Given the description of an element on the screen output the (x, y) to click on. 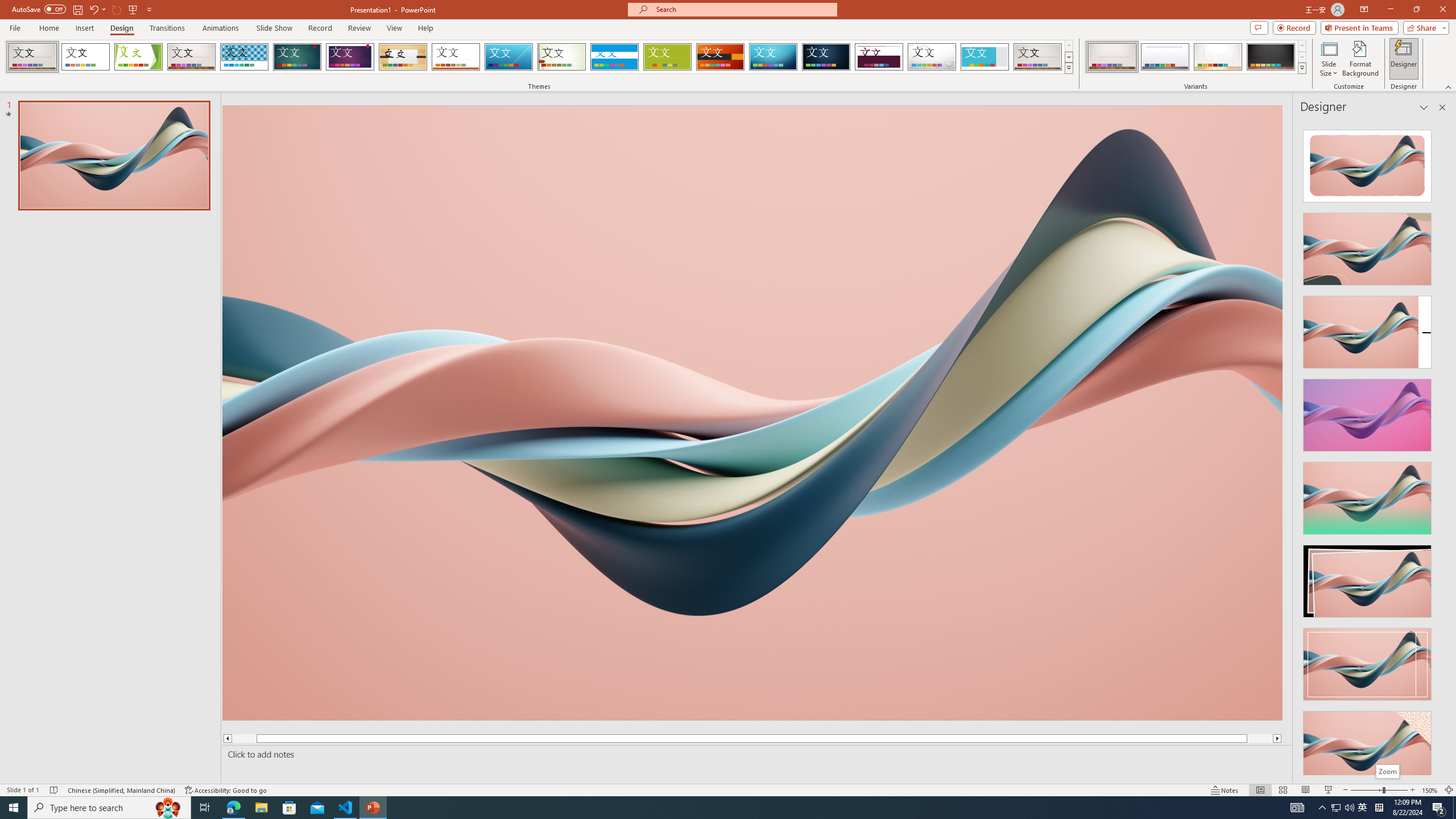
Office Theme (85, 56)
Organic (403, 56)
Facet (138, 56)
Slice (508, 56)
Gallery Variant 3 (1217, 56)
